Given the description of an element on the screen output the (x, y) to click on. 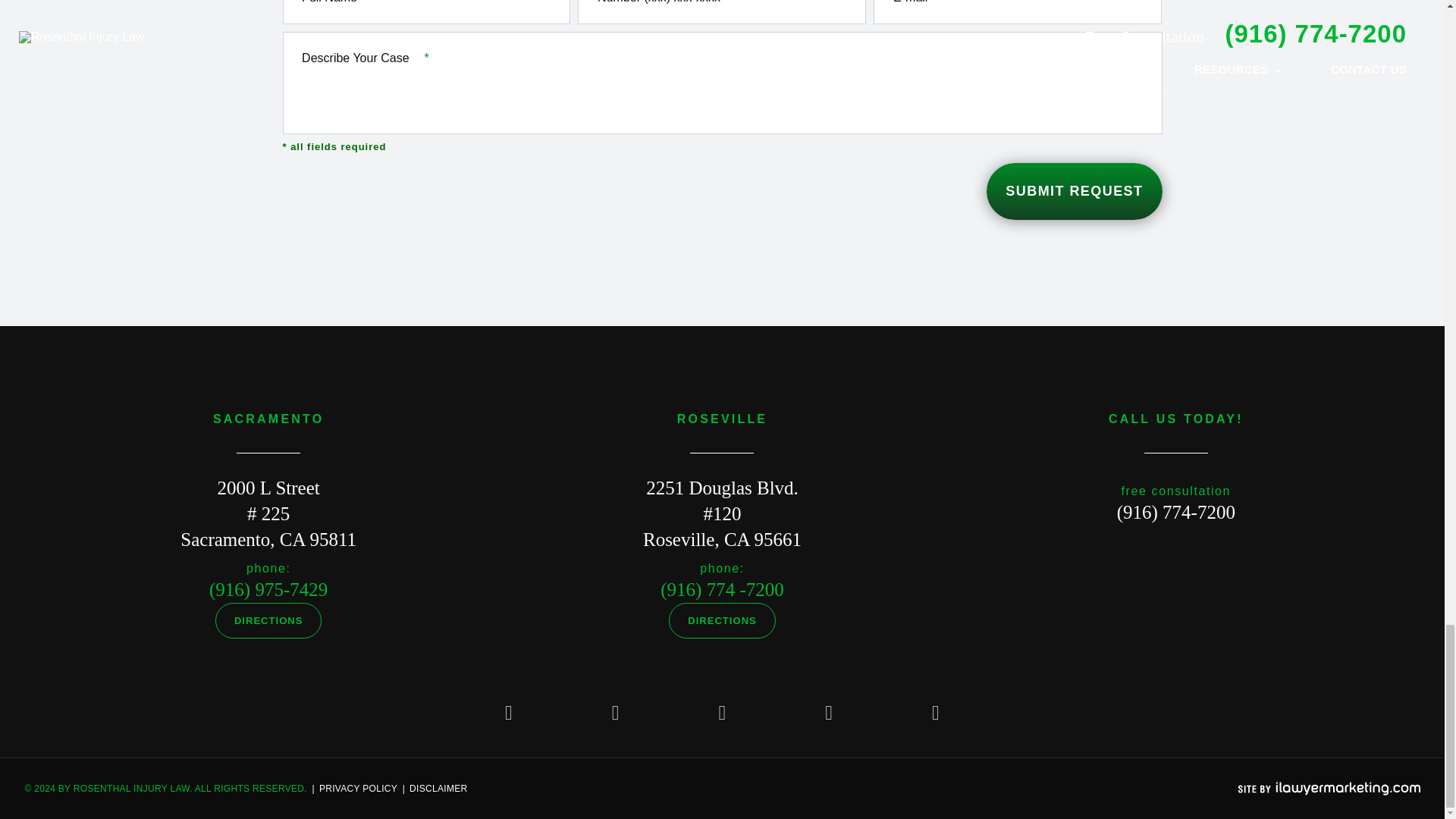
Phone (268, 589)
Phone (722, 589)
Free Consultation (1175, 512)
